Given the description of an element on the screen output the (x, y) to click on. 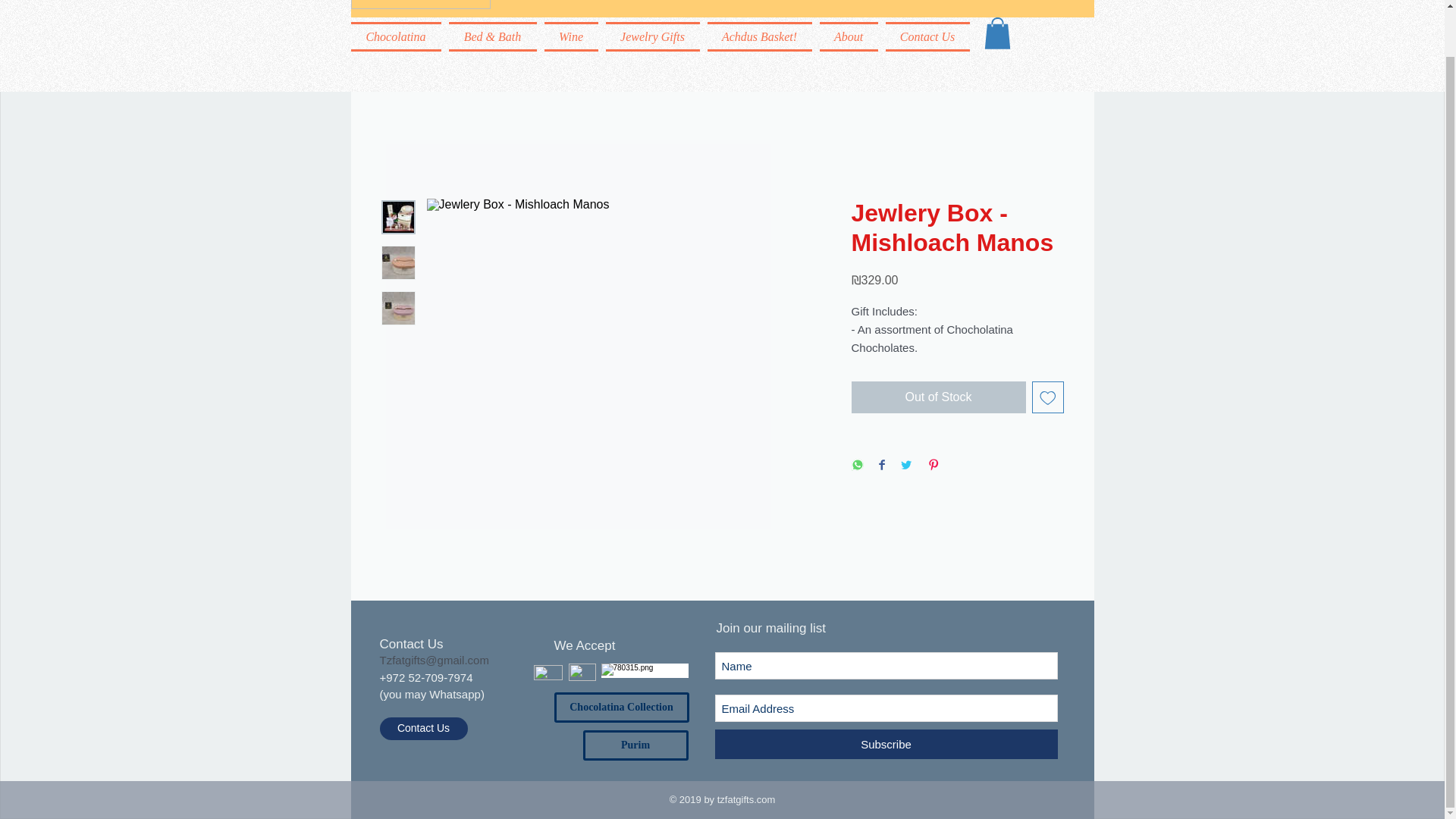
Chocolatina (397, 36)
Jewelry Gifts (652, 36)
Wine (570, 36)
Subscribe (885, 744)
Purim (634, 745)
Chocolatina Collection (620, 707)
Contact Us (924, 36)
Achdus Basket! (759, 36)
About (848, 36)
Out of Stock (937, 397)
